Given the description of an element on the screen output the (x, y) to click on. 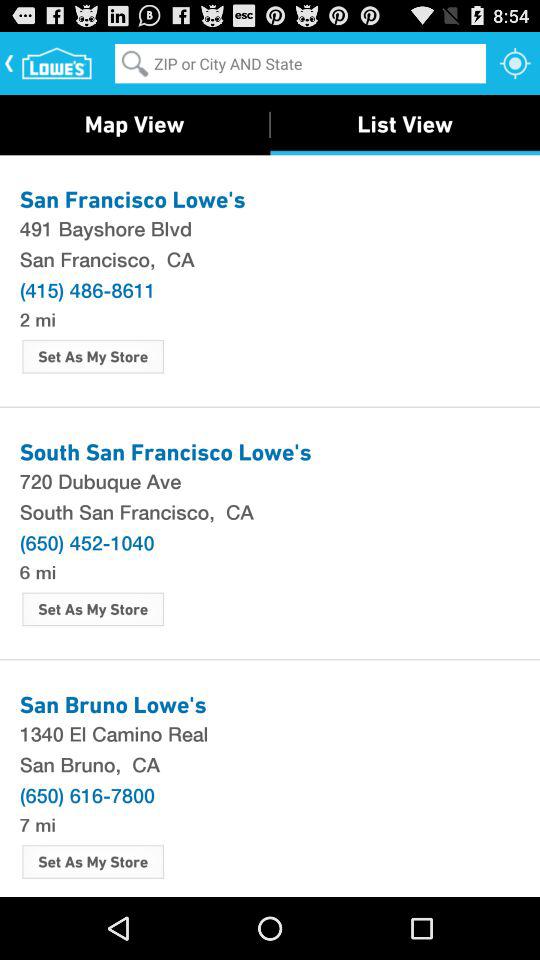
select 2 mi item (37, 318)
